Given the description of an element on the screen output the (x, y) to click on. 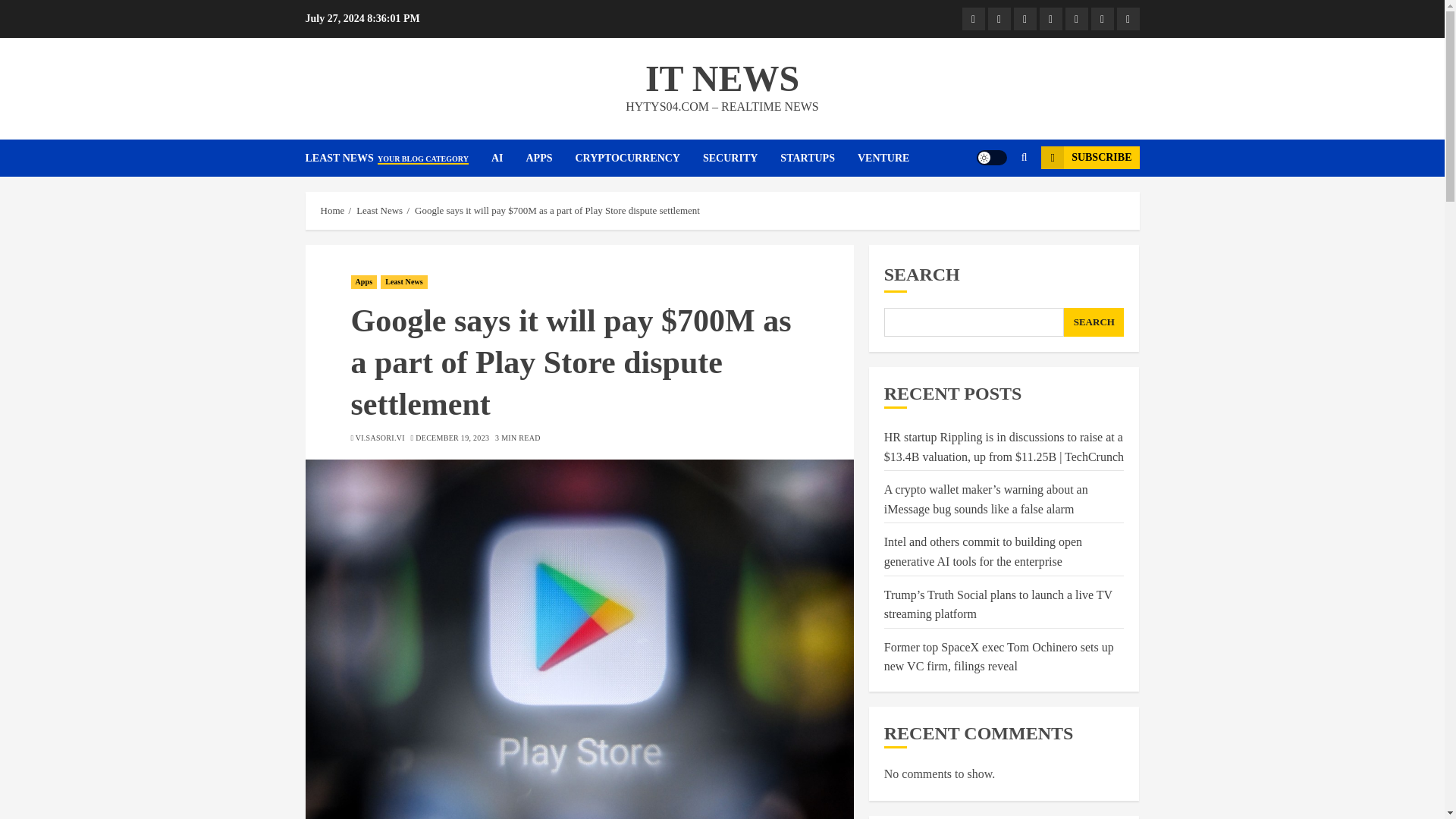
Venture (1127, 18)
AI (998, 18)
CRYPTOCURRENCY (638, 157)
VENTURE (882, 157)
Least News (972, 18)
Security (1075, 18)
Startups (1101, 18)
Least News (404, 282)
SUBSCRIBE (1089, 157)
Apps (363, 282)
IT NEWS (722, 78)
Least News (379, 210)
LEAST NEWSYOUR BLOG CATEGORY (397, 157)
Search (994, 203)
Apps (1024, 18)
